Given the description of an element on the screen output the (x, y) to click on. 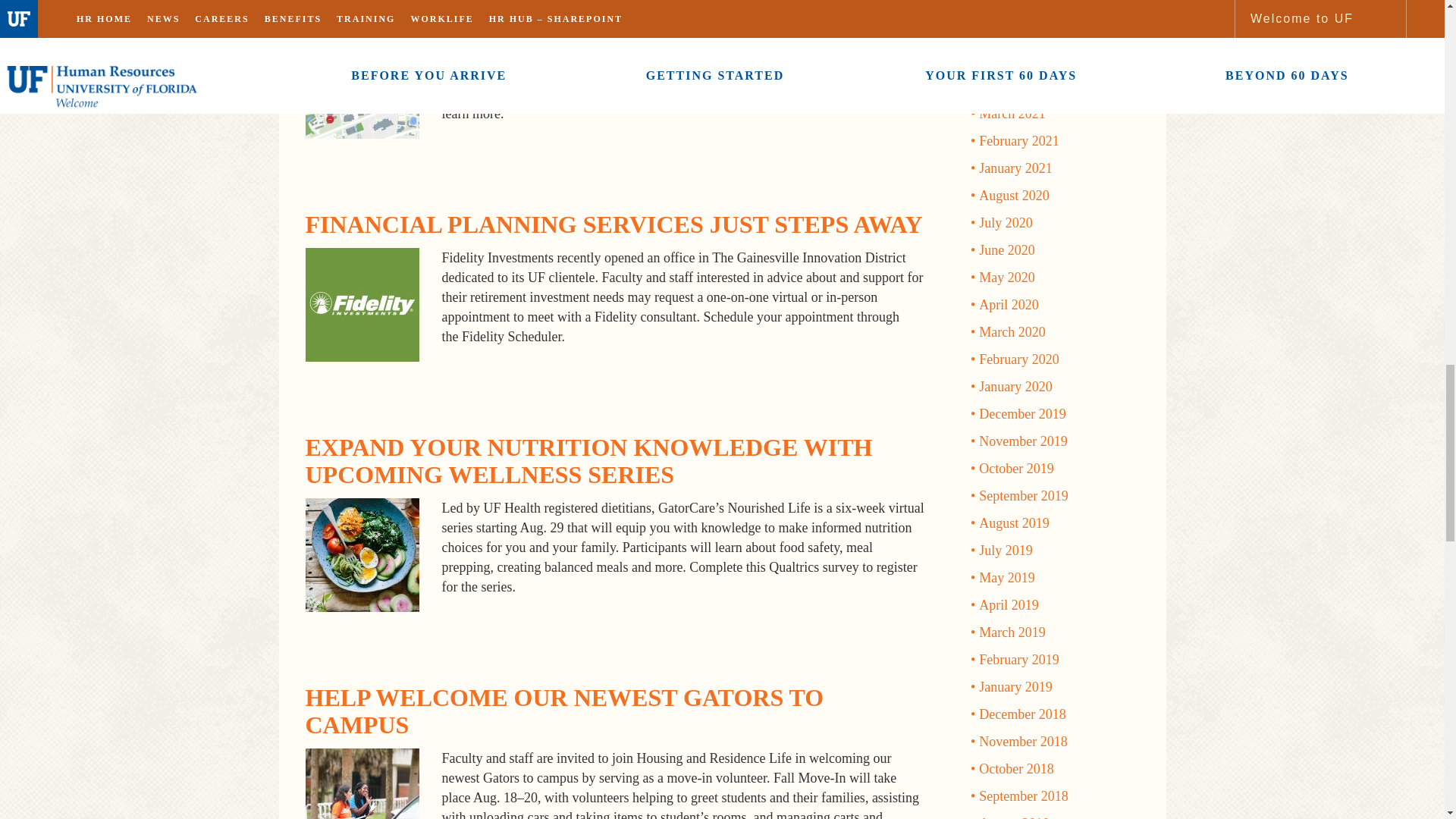
Permanent Link to Looking for the latest campus closures? (600, 7)
Permanent Link to Help welcome our newest Gators to campus (564, 710)
